Given the description of an element on the screen output the (x, y) to click on. 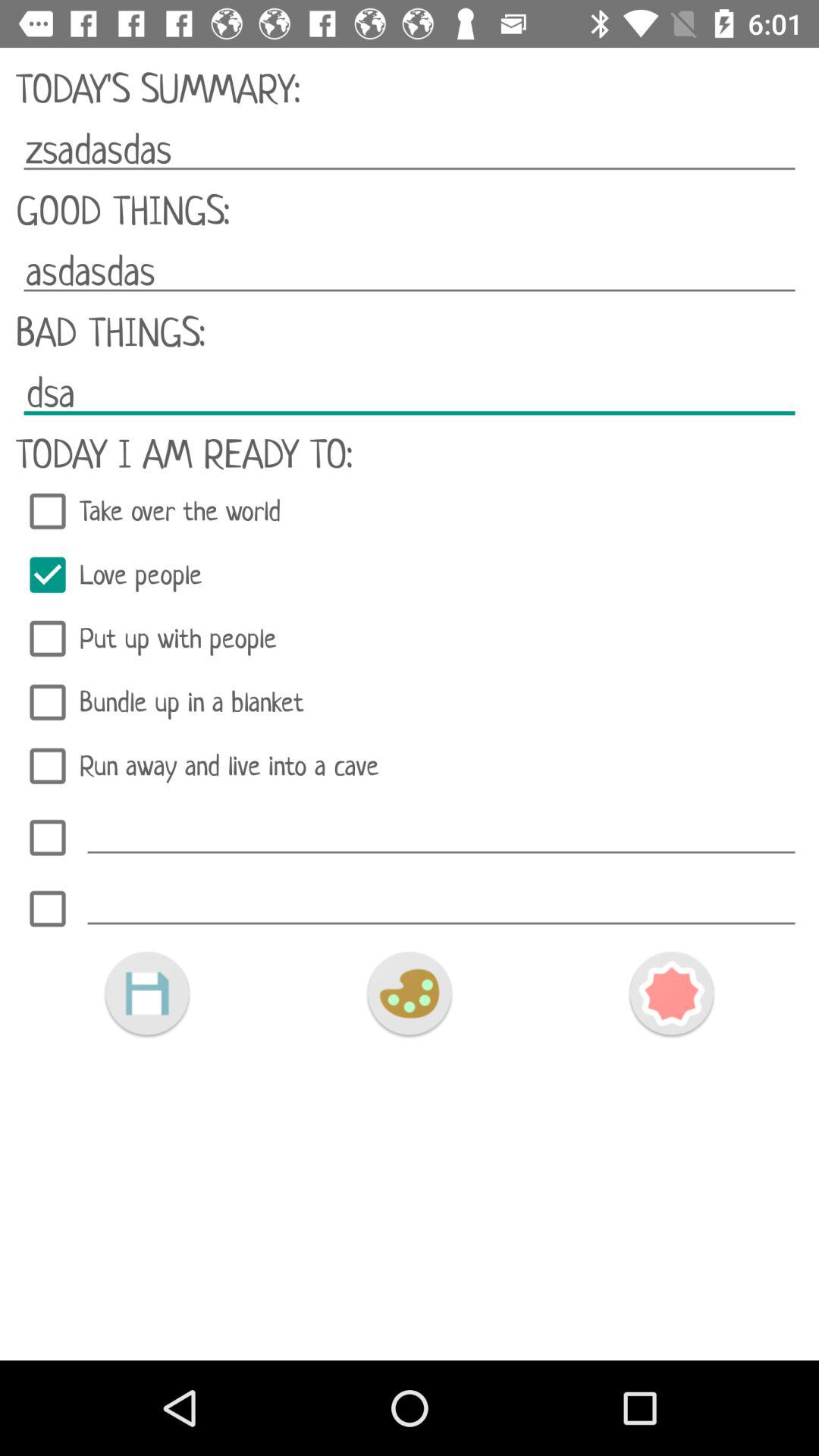
add reminder (47, 837)
